Given the description of an element on the screen output the (x, y) to click on. 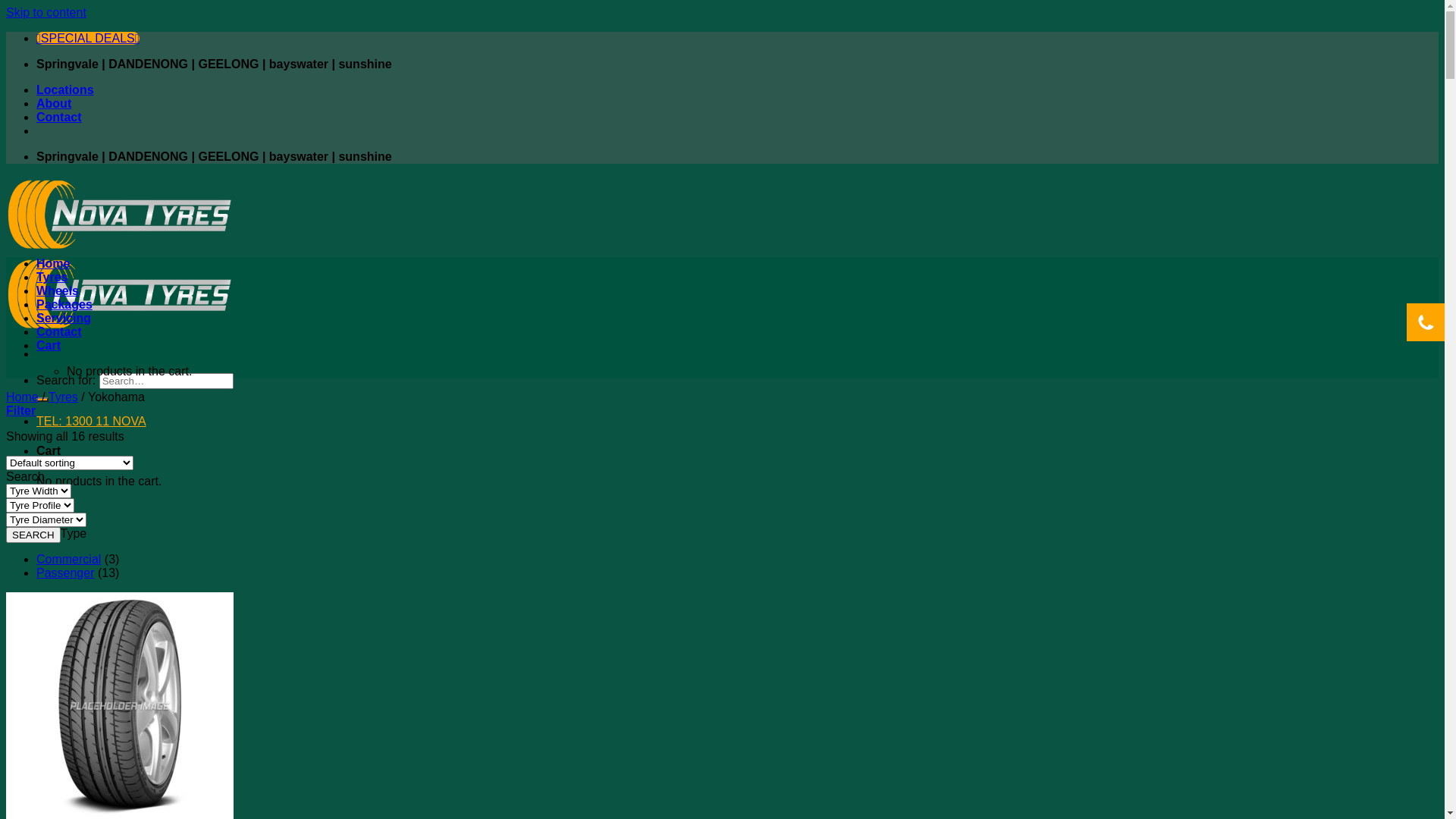
Home Element type: text (22, 396)
Home Element type: text (52, 263)
Contact Element type: text (58, 116)
Tyres Element type: text (52, 276)
Tyres Element type: text (63, 396)
Cart Element type: text (48, 344)
Locations Element type: text (65, 89)
Servicing Element type: text (63, 317)
Wheels Element type: text (57, 290)
Passenger Element type: text (65, 572)
Commercial Element type: text (68, 558)
Nova Tyres - Australia's Best Deals on Tyres and Wheels Element type: hover (119, 287)
Contact Element type: text (58, 331)
Packages Element type: text (64, 304)
Filter Element type: text (20, 410)
SEARCH Element type: text (33, 534)
TEL: 1300 11 NOVA Element type: text (91, 420)
Search Element type: text (42, 399)
Skip to content Element type: text (46, 12)
About Element type: text (53, 103)
